Given the description of an element on the screen output the (x, y) to click on. 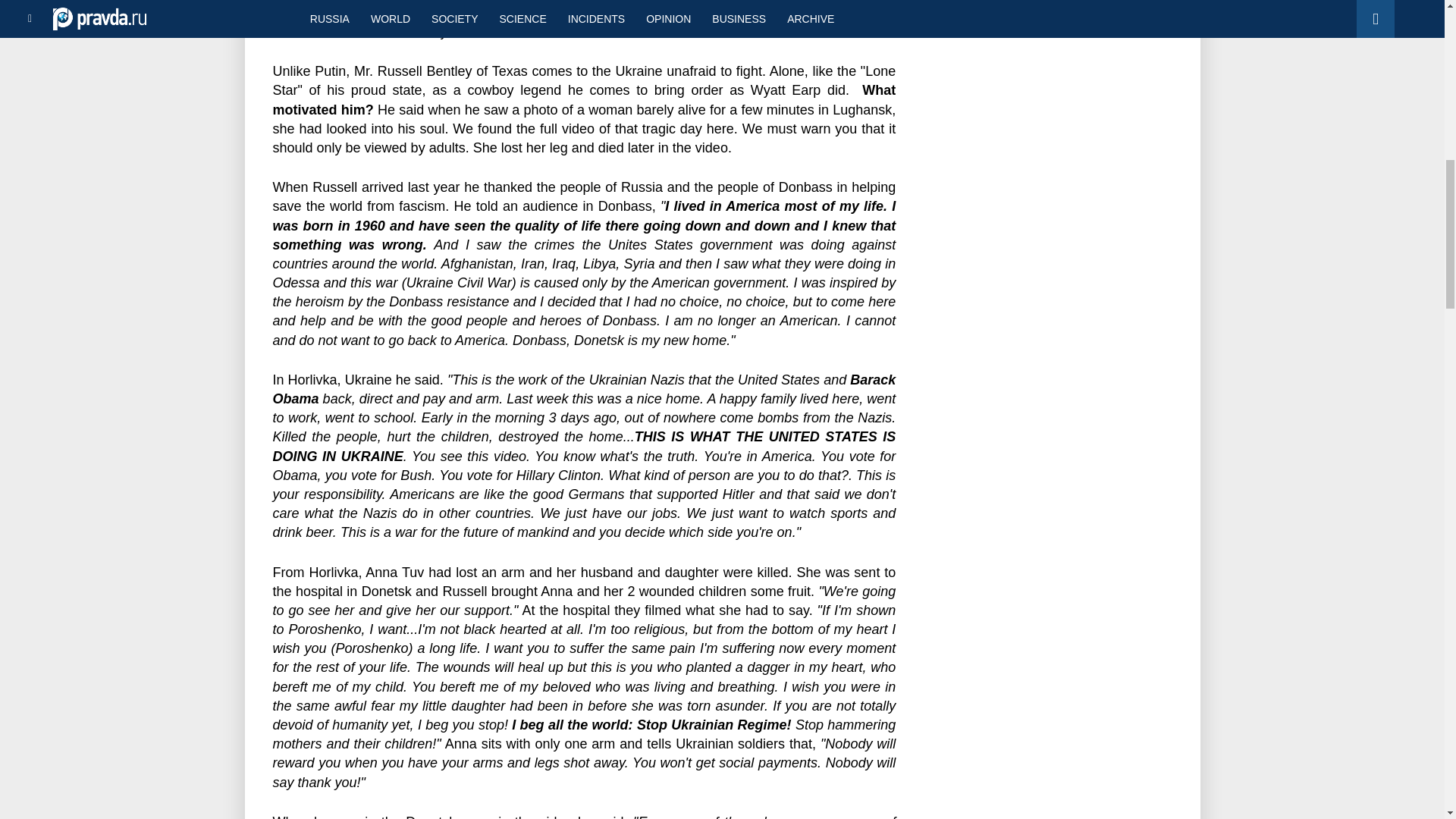
Back to top (1418, 79)
